Given the description of an element on the screen output the (x, y) to click on. 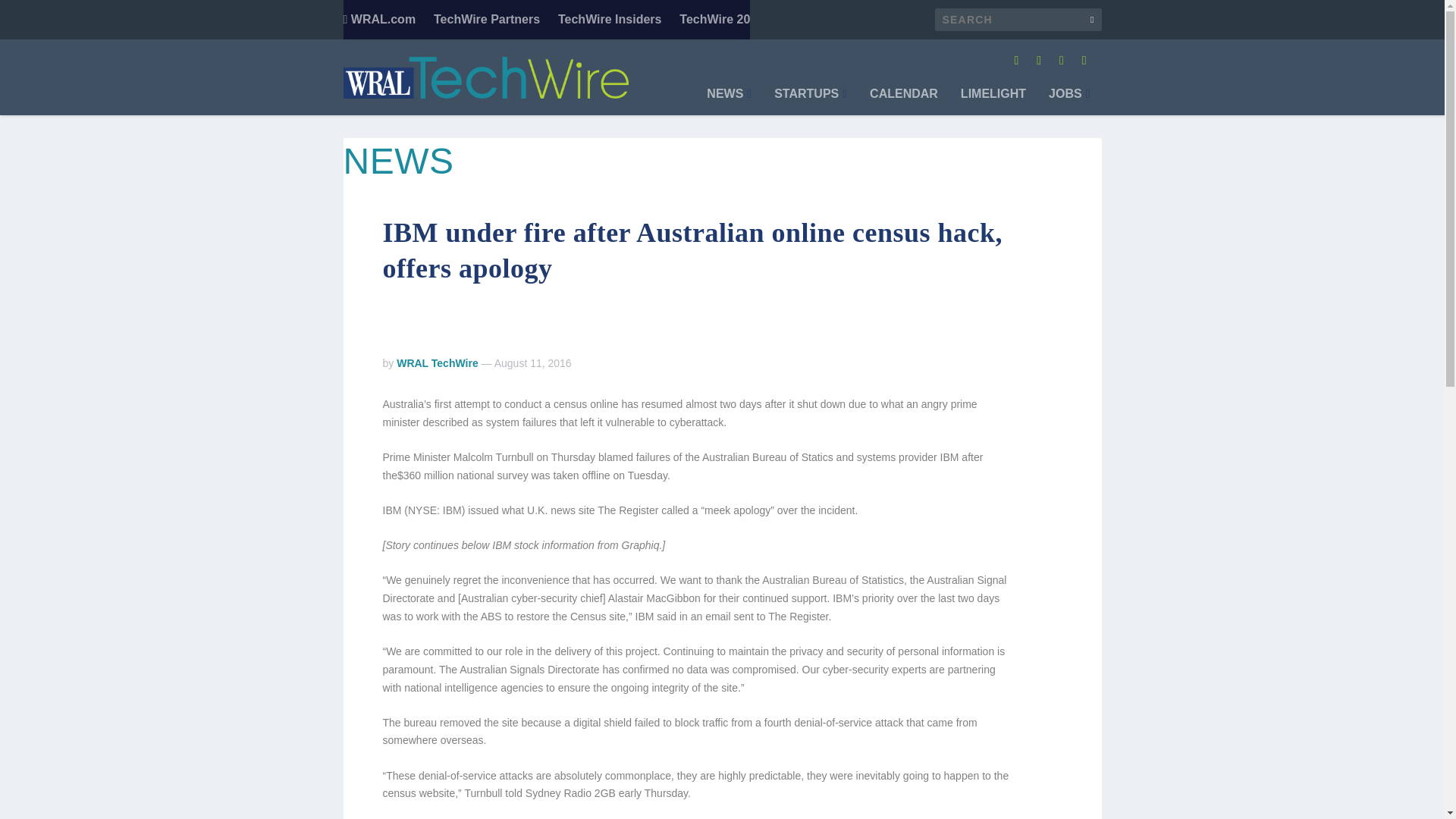
WRAL.com (378, 19)
TechWire Partners (486, 19)
TechWire 20 (714, 19)
JOBS (1068, 101)
NEWS (728, 101)
LIMELIGHT (993, 101)
STARTUPS (810, 101)
Search for: (1017, 19)
TechWire Insiders (609, 19)
CALENDAR (903, 101)
